Given the description of an element on the screen output the (x, y) to click on. 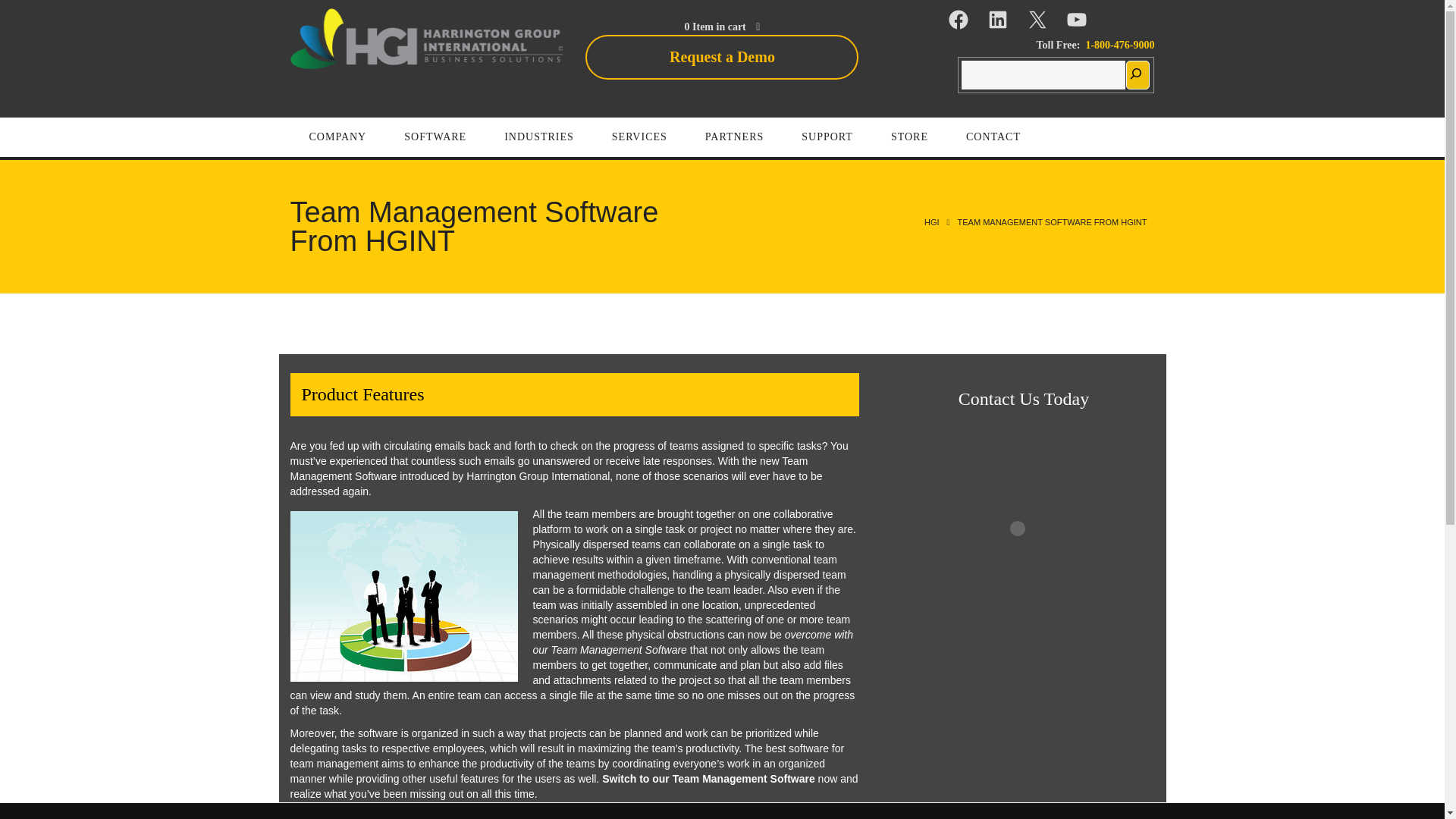
Request a Demo (722, 57)
COMPANY (337, 137)
X (1037, 19)
Facebook (958, 19)
SOFTWARE (434, 137)
0 Item in cart (722, 27)
YouTube (1076, 19)
LinkedIn (997, 19)
